Given the description of an element on the screen output the (x, y) to click on. 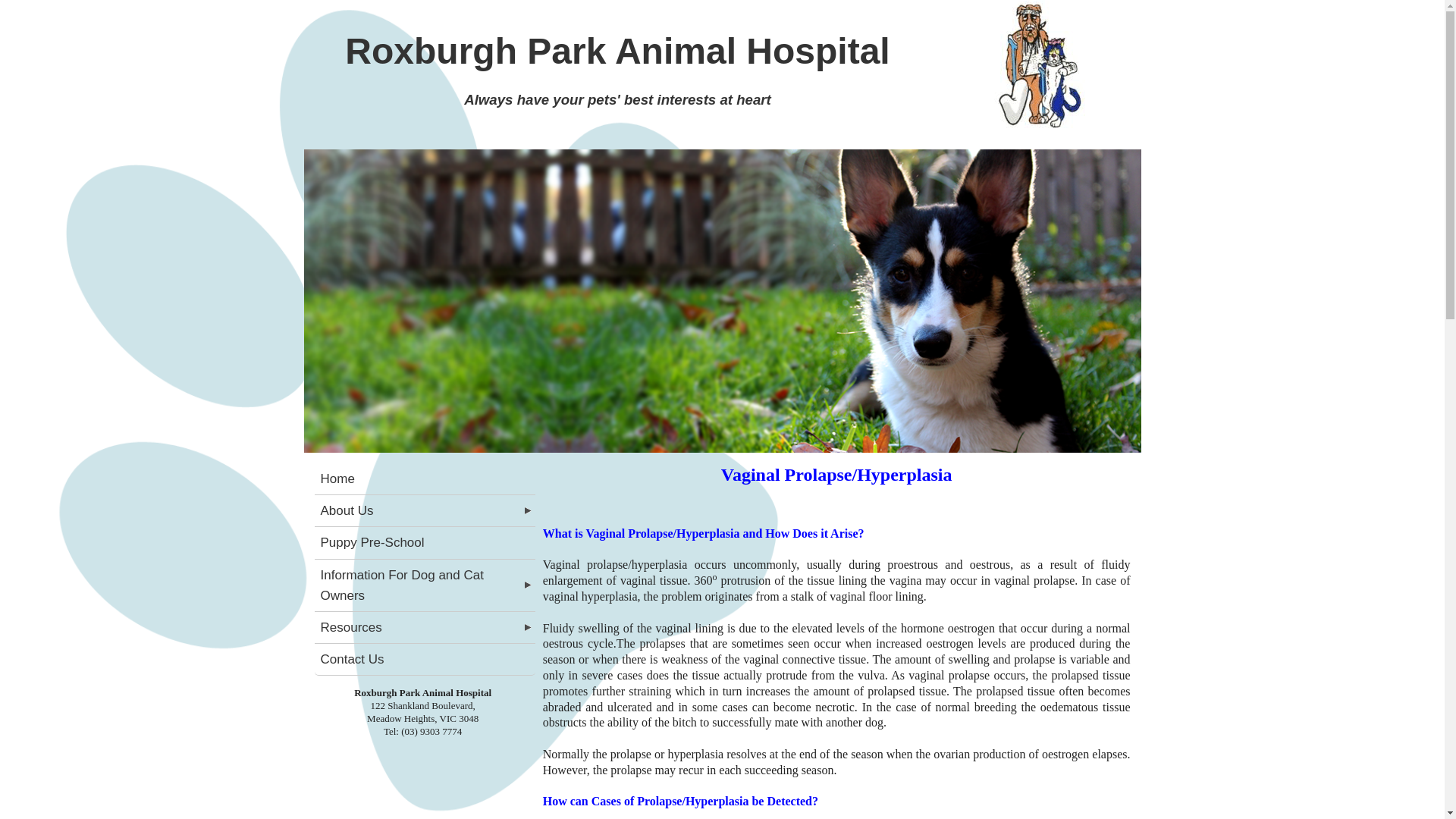
Roxburgh Park Animal Hospital - Click to return home (1035, 67)
Roxburgh Park Animal Hospital Logo (1035, 68)
